Given the description of an element on the screen output the (x, y) to click on. 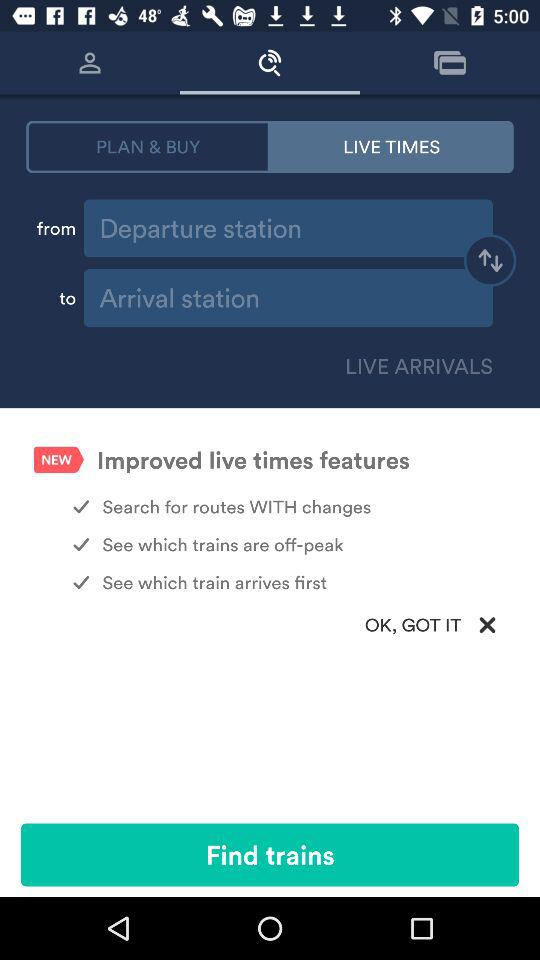
fill in the departure station (288, 228)
